Given the description of an element on the screen output the (x, y) to click on. 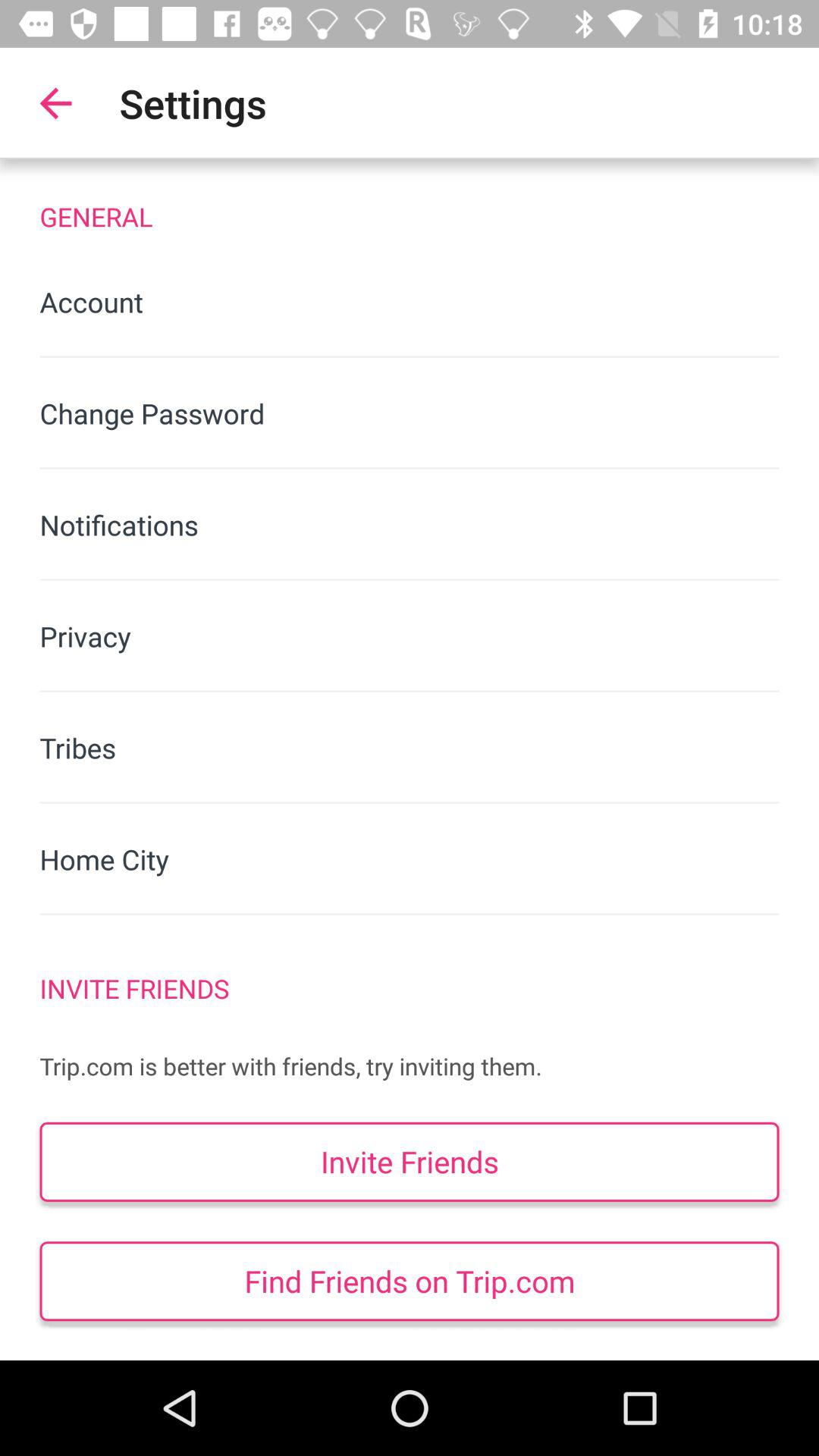
open the item above home city icon (409, 747)
